Given the description of an element on the screen output the (x, y) to click on. 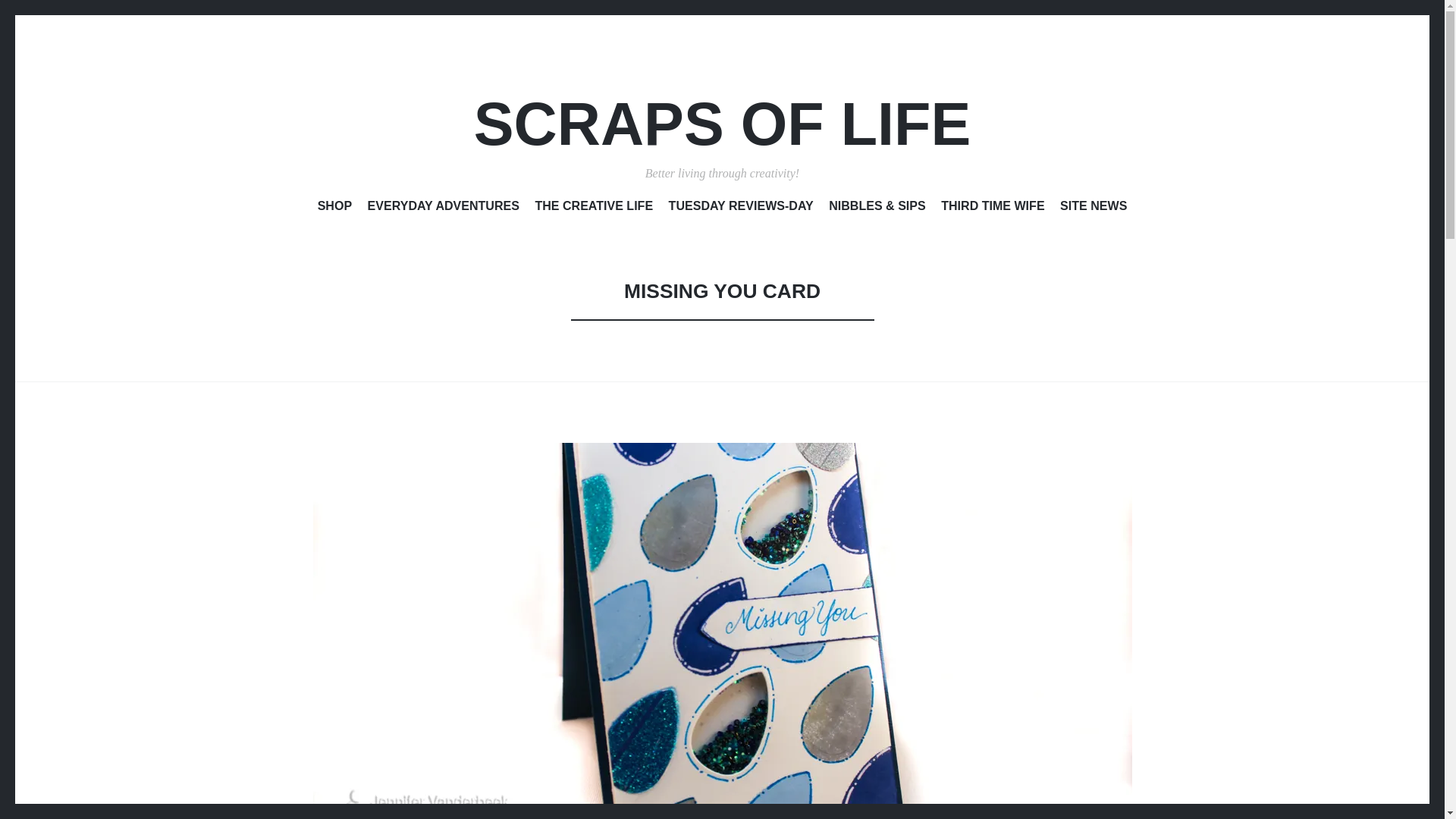
SITE NEWS (1092, 208)
THIRD TIME WIFE (991, 208)
SHOP (334, 208)
SCRAPS OF LIFE (722, 123)
THE CREATIVE LIFE (593, 208)
TUESDAY REVIEWS-DAY (740, 208)
EVERYDAY ADVENTURES (443, 208)
